Given the description of an element on the screen output the (x, y) to click on. 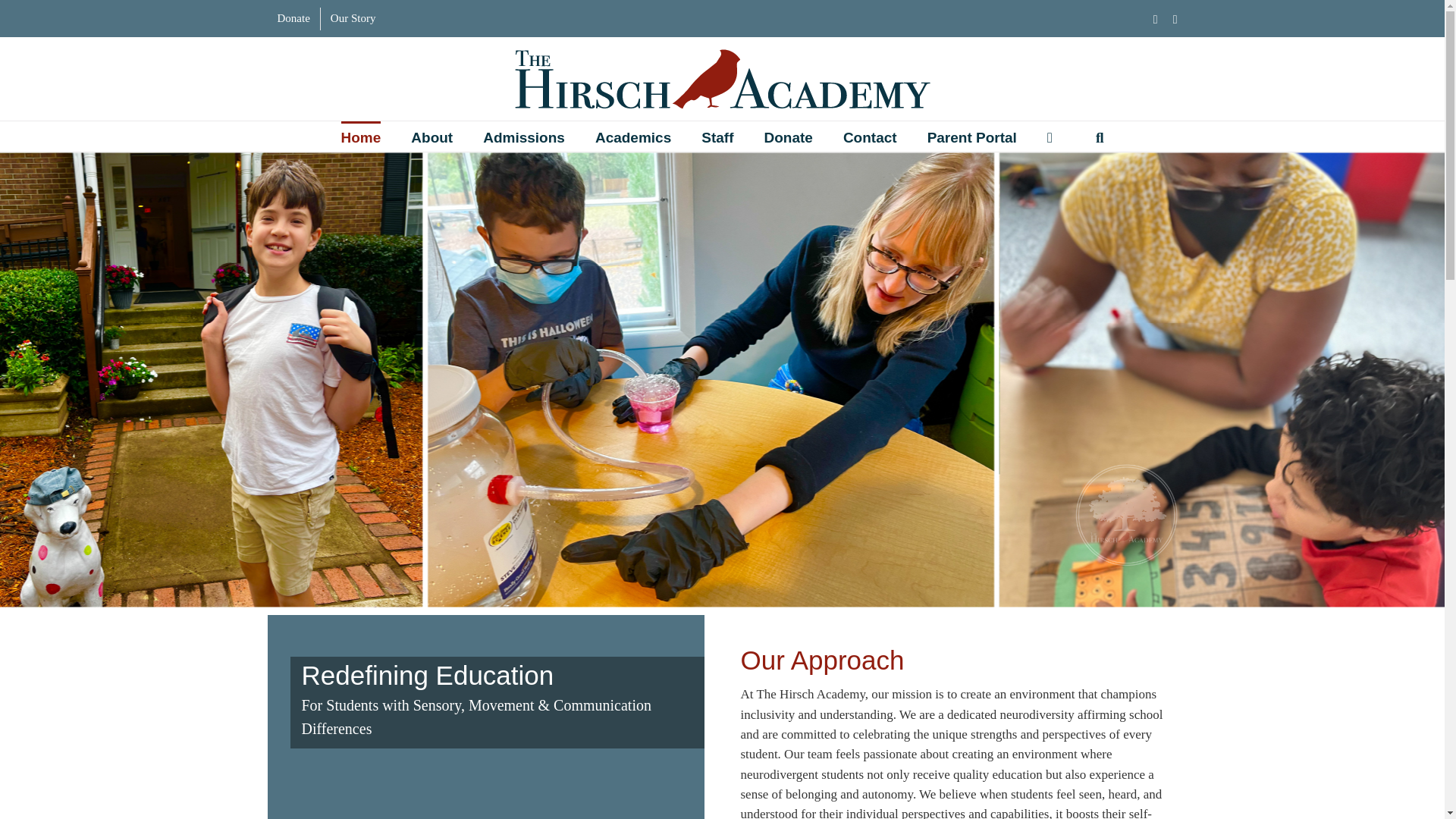
Parent Portal (971, 136)
About (431, 136)
Donate (292, 18)
Staff (717, 136)
Contact (869, 136)
Home (360, 136)
Our Story (352, 18)
Academics (633, 136)
Admissions (523, 136)
Donate (787, 136)
